Given the description of an element on the screen output the (x, y) to click on. 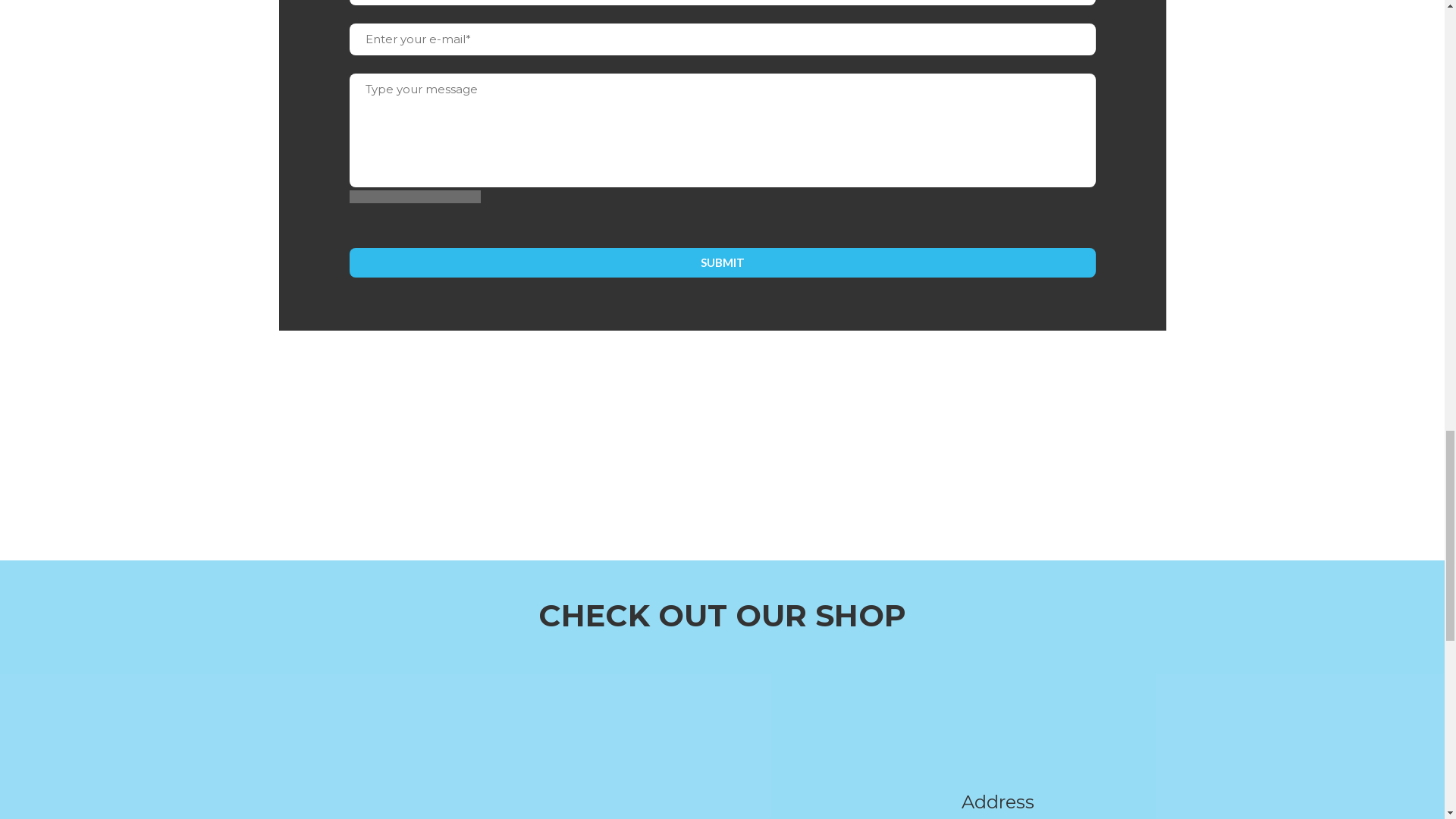
SUBMIT (721, 262)
